Given the description of an element on the screen output the (x, y) to click on. 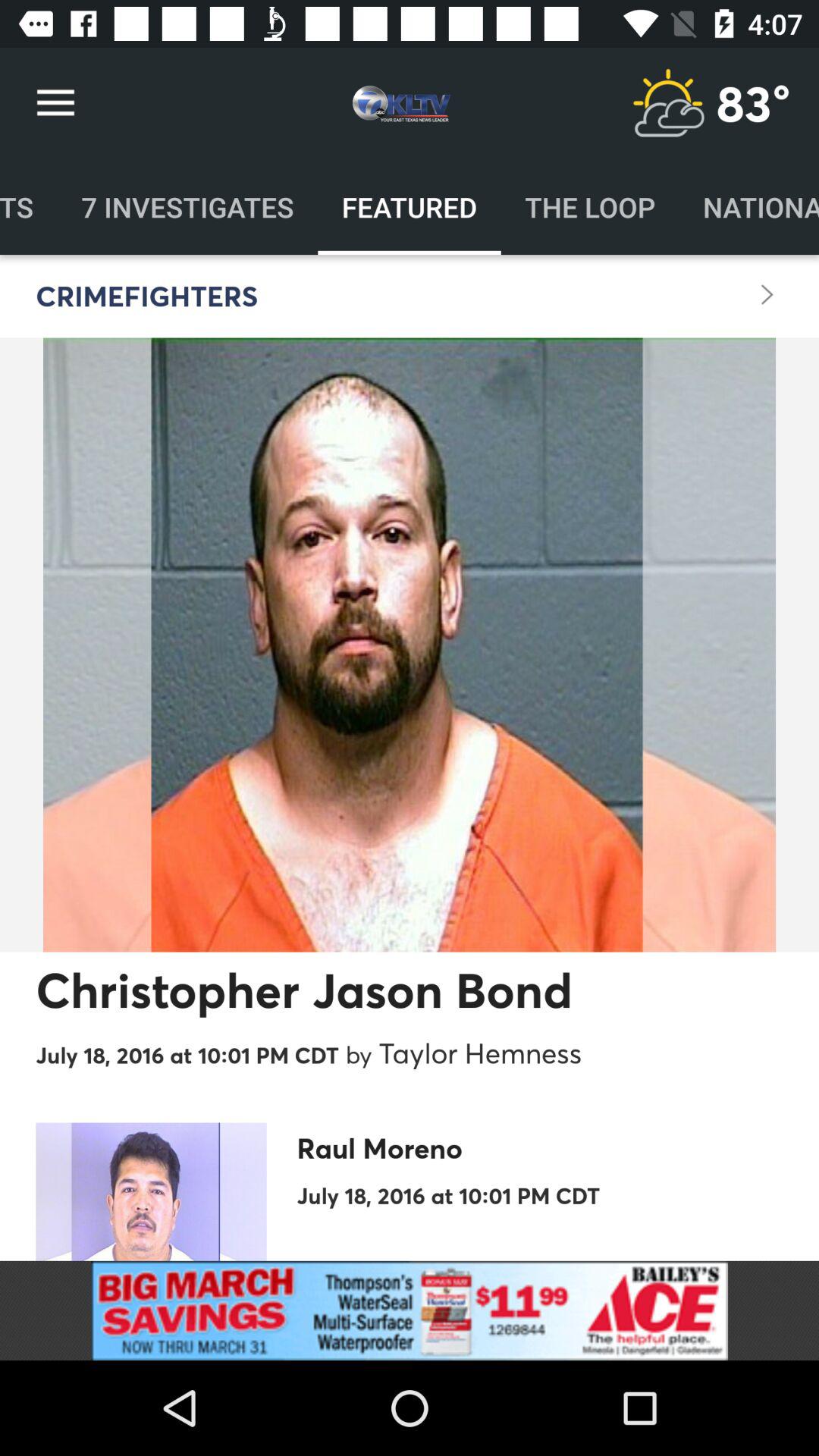
weather forecast (668, 103)
